Given the description of an element on the screen output the (x, y) to click on. 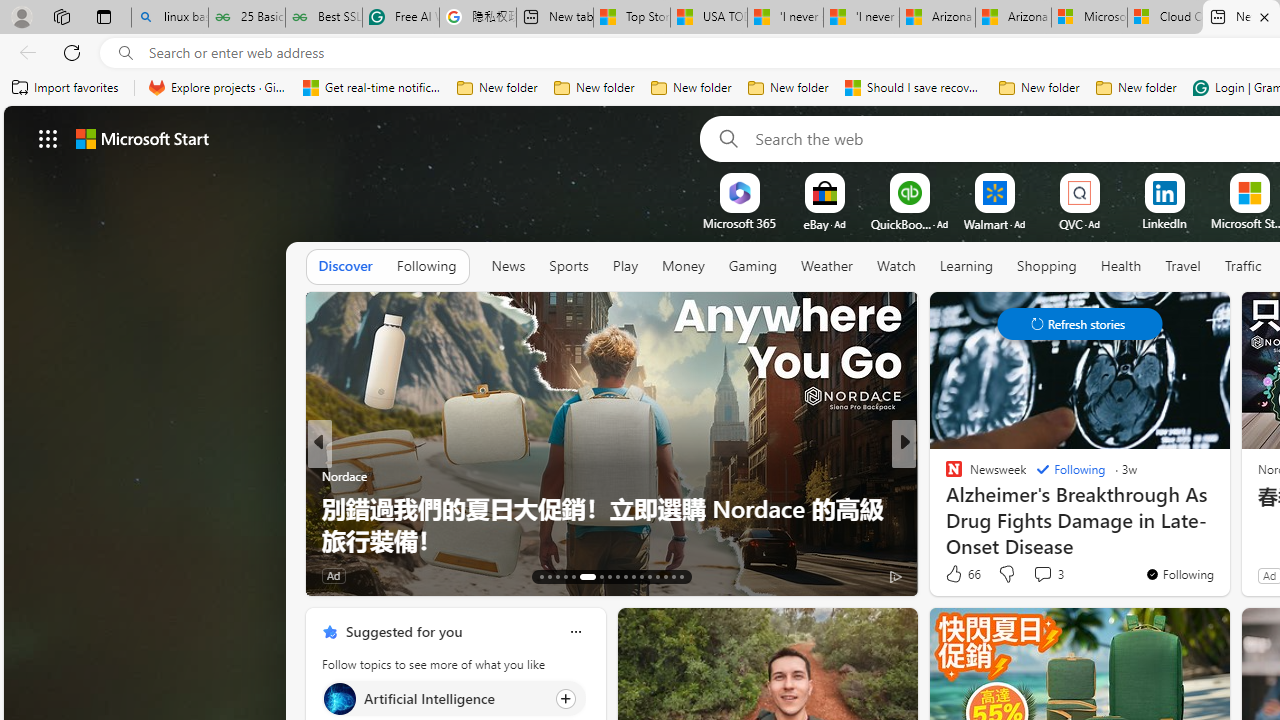
95 Like (956, 574)
Learning (965, 265)
Gaming (752, 267)
Class: icon-img (575, 632)
Body Network (944, 475)
Traffic (1243, 265)
AutomationID: tab-23 (632, 576)
Top Stories - MSN (631, 17)
USA TODAY - MSN (708, 17)
AutomationID: tab-29 (681, 576)
